Given the description of an element on the screen output the (x, y) to click on. 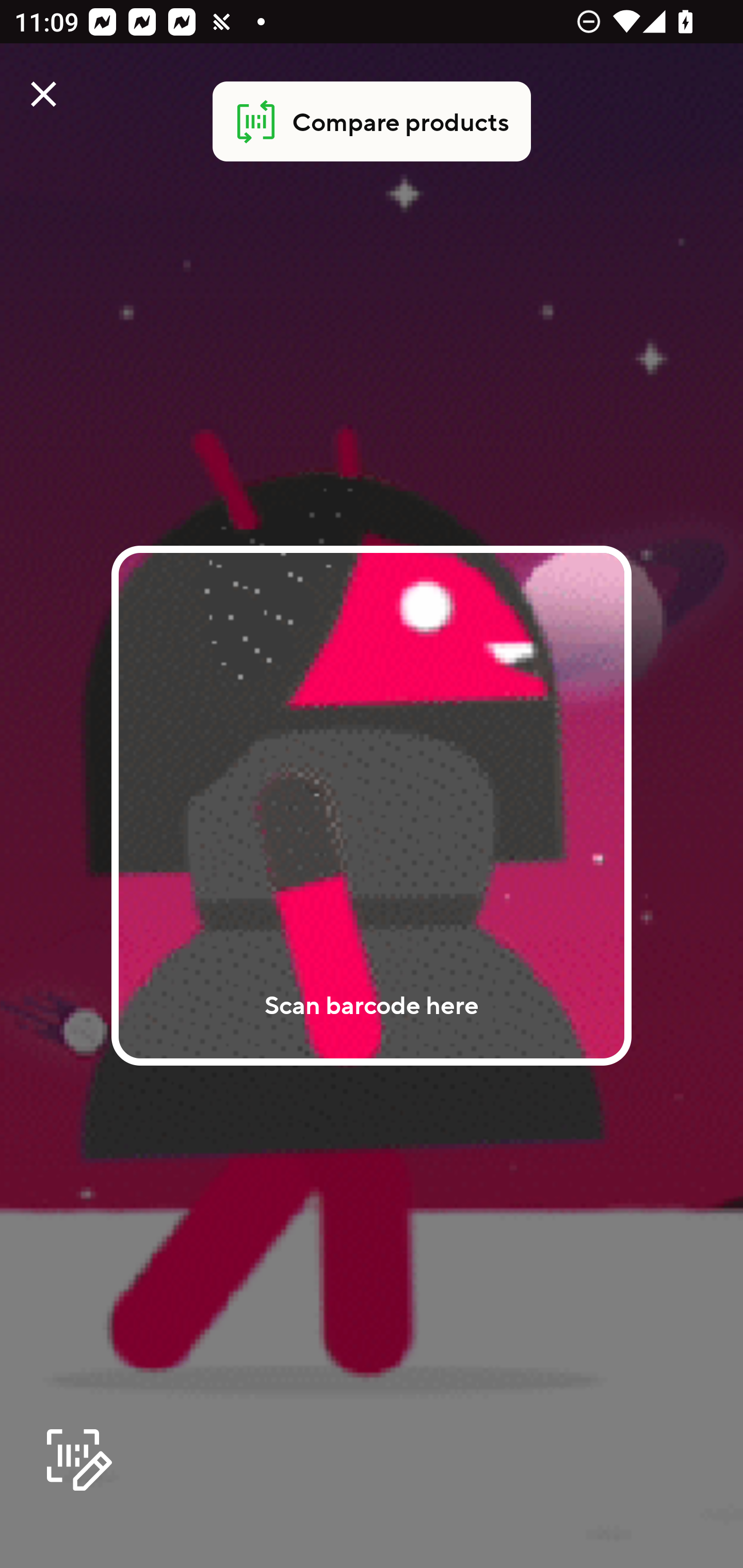
Compare products (371, 121)
